Given the description of an element on the screen output the (x, y) to click on. 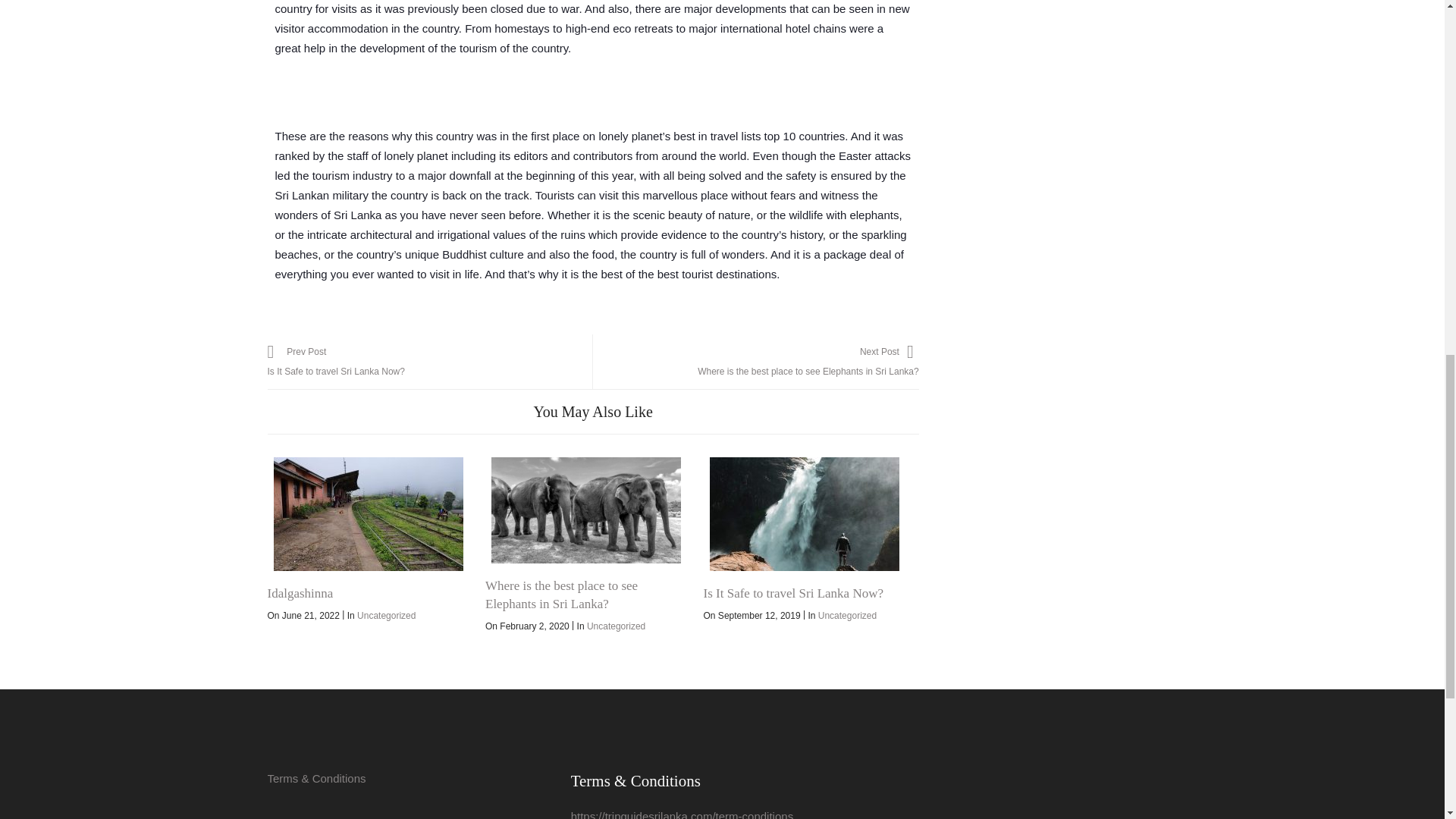
Where is the best place to see Elephants in Sri Lanka? (586, 510)
Is It Safe to travel Sri Lanka Now? (804, 513)
Idalgashinna (367, 513)
